Given the description of an element on the screen output the (x, y) to click on. 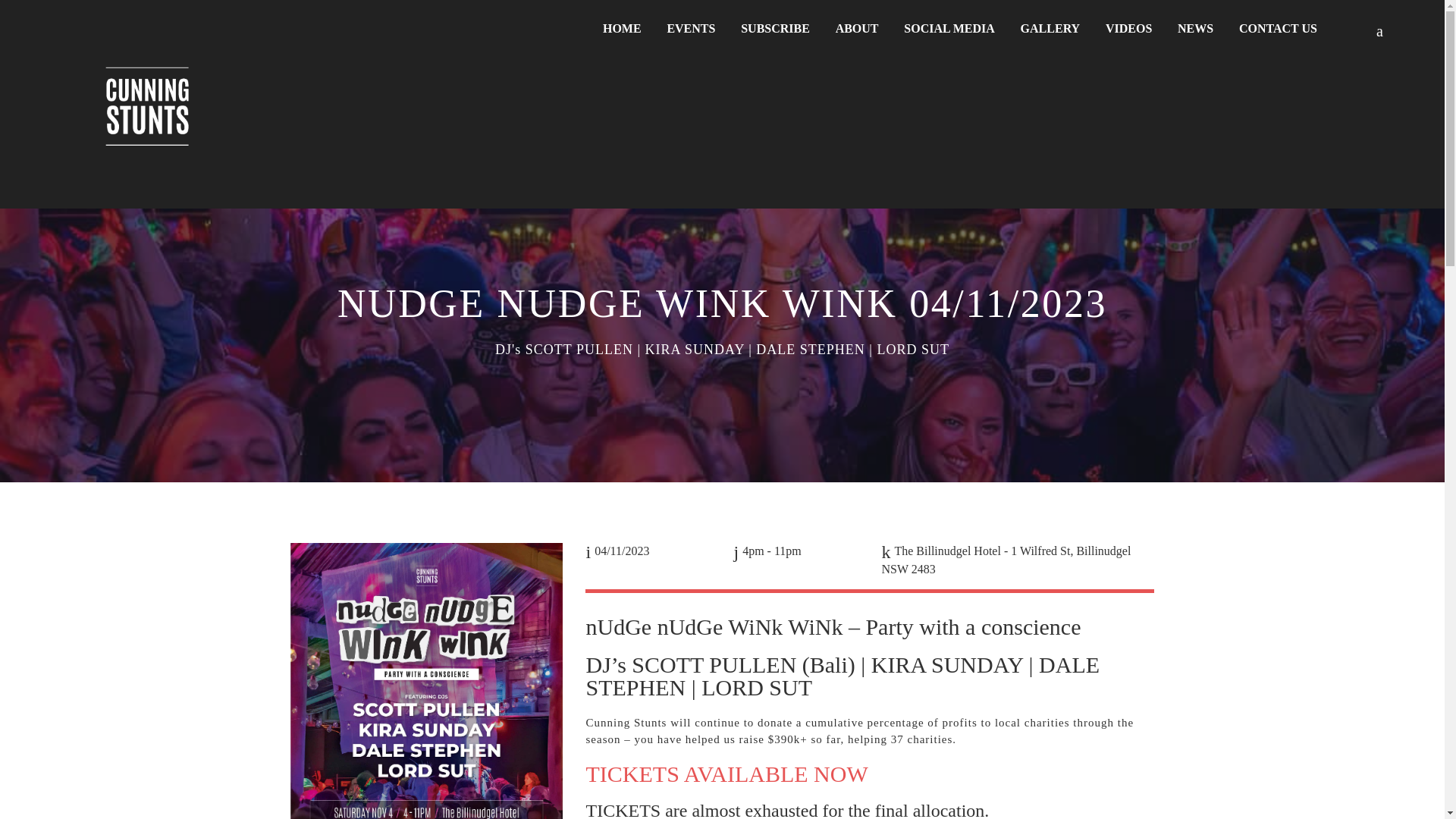
SUBSCRIBE (775, 28)
VIDEOS (1128, 28)
ABOUT (856, 28)
CONTACT US (1277, 28)
GALLERY (1050, 28)
TICKETS AVAILABLE NOW (726, 773)
SOCIAL MEDIA (949, 28)
EVENTS (690, 28)
NEWS (1195, 28)
HOME (621, 28)
